Given the description of an element on the screen output the (x, y) to click on. 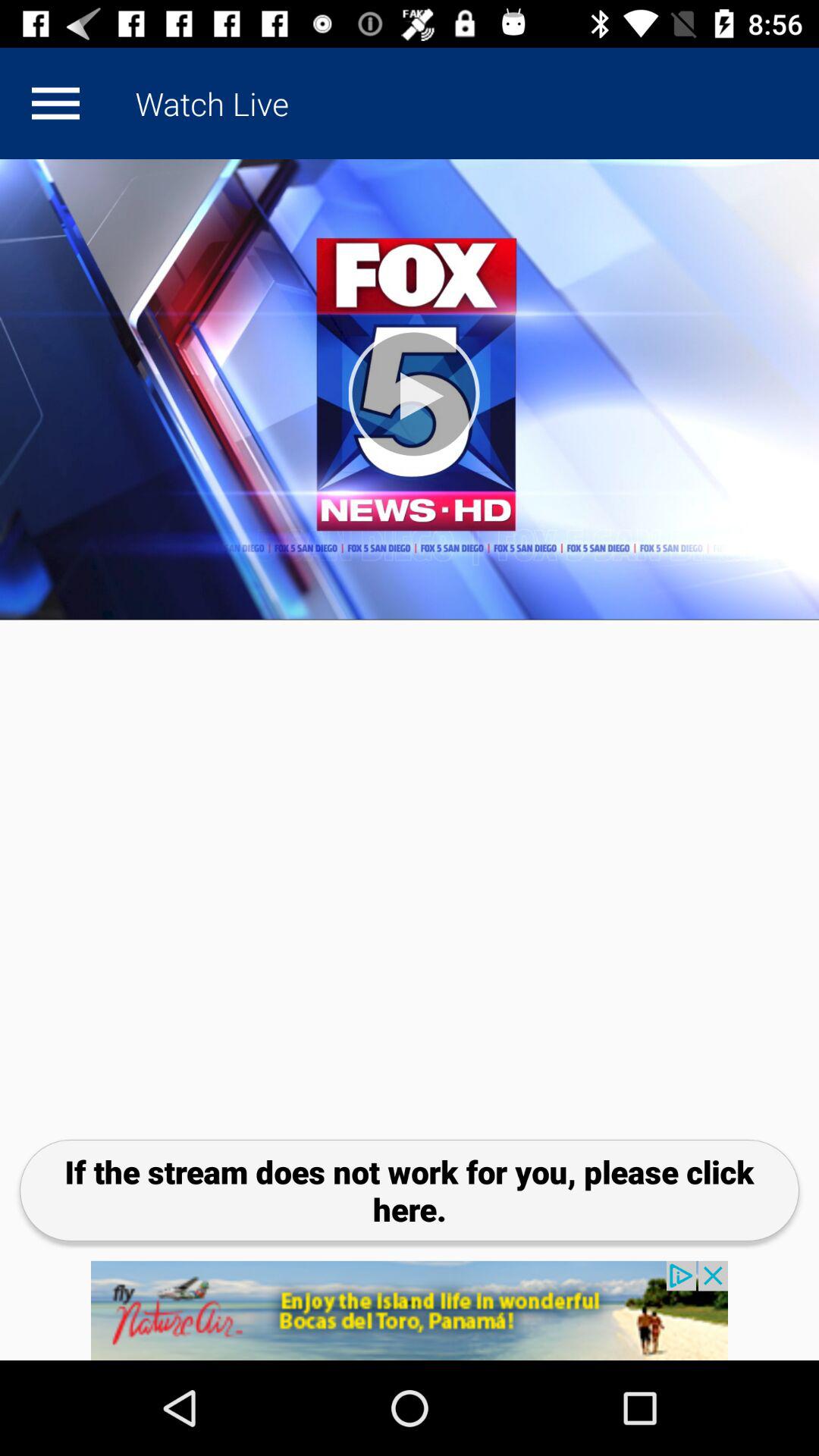
go to home page (55, 103)
